Given the description of an element on the screen output the (x, y) to click on. 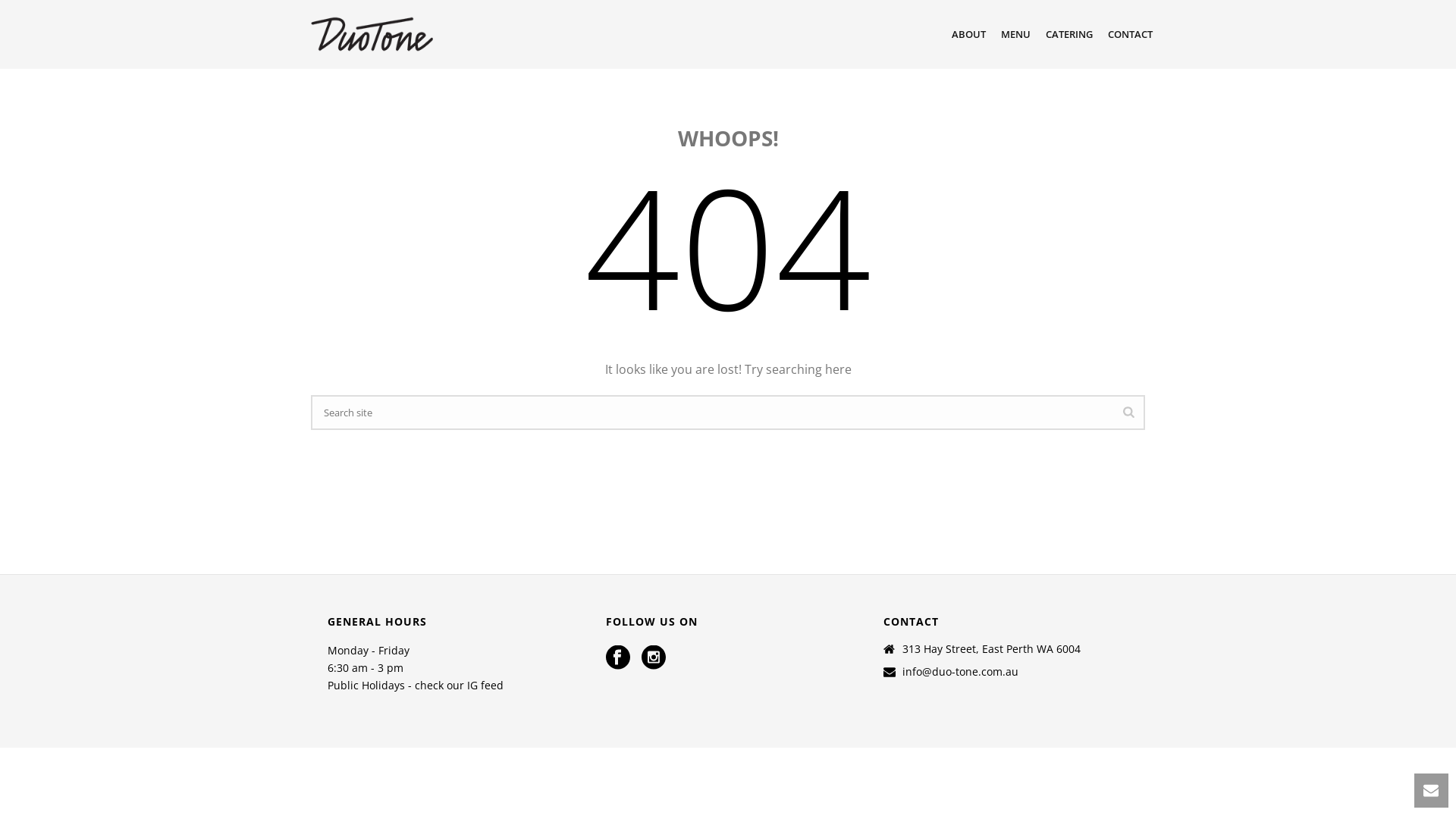
313 Hay Street, East Perth WA 6004 Element type: text (991, 648)
MENU Element type: text (1015, 34)
CATERING Element type: text (1069, 34)
Follow Us on facebook Element type: hover (617, 658)
Follow Us on instagram Element type: hover (653, 658)
info@duo-tone.com.au Element type: text (960, 671)
ABOUT Element type: text (968, 34)
CONTACT Element type: text (1130, 34)
